Given the description of an element on the screen output the (x, y) to click on. 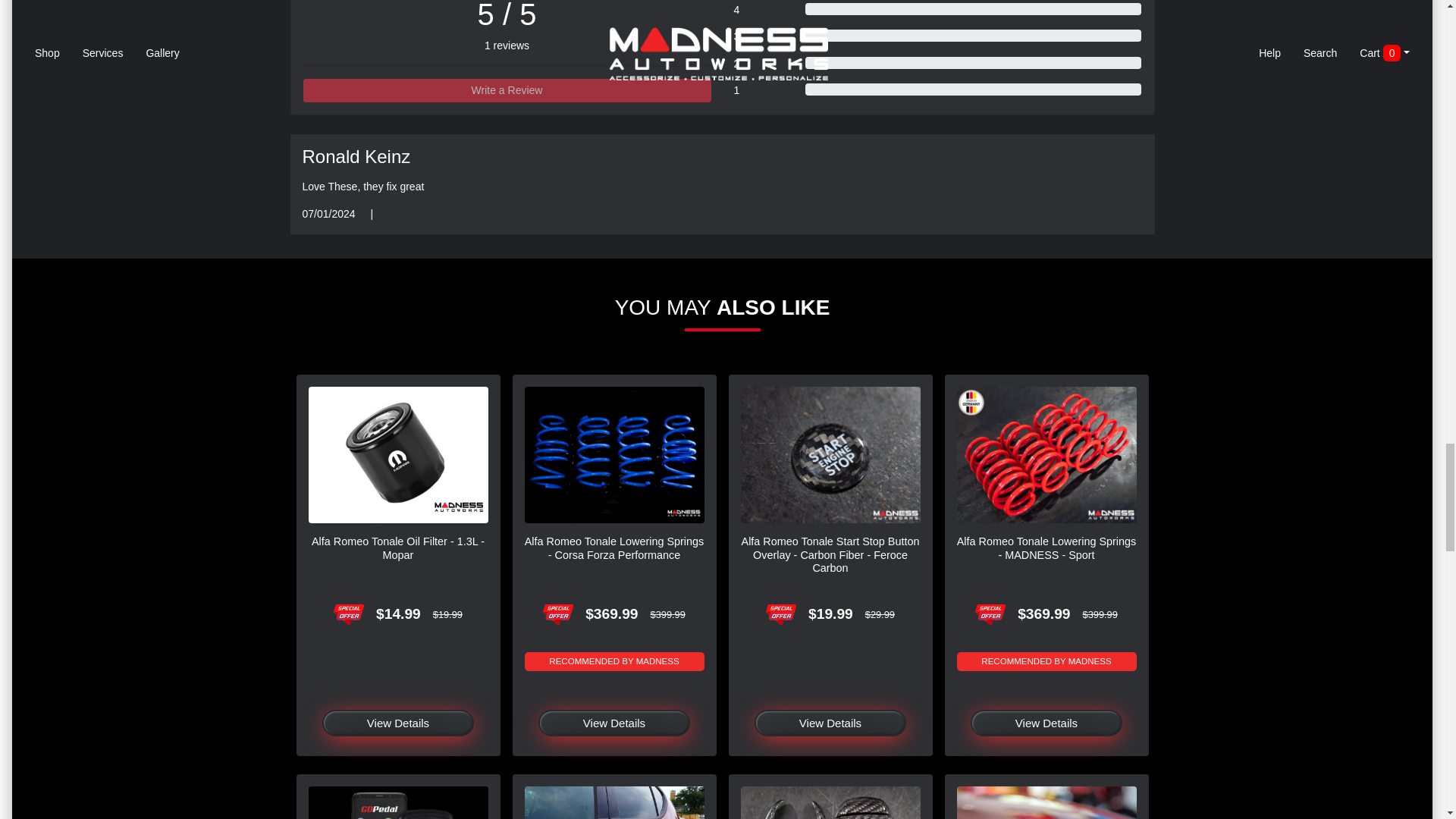
Alfa Romeo Tonale Key Fob Cover  - Carbon Fiber - Black (829, 802)
Alfa Romeo Tonale Lowering Springs - MADNESS - Sport (1046, 454)
Alfa Romeo Tonale Oil Filter - 1.3L - Mopar (397, 454)
